Given the description of an element on the screen output the (x, y) to click on. 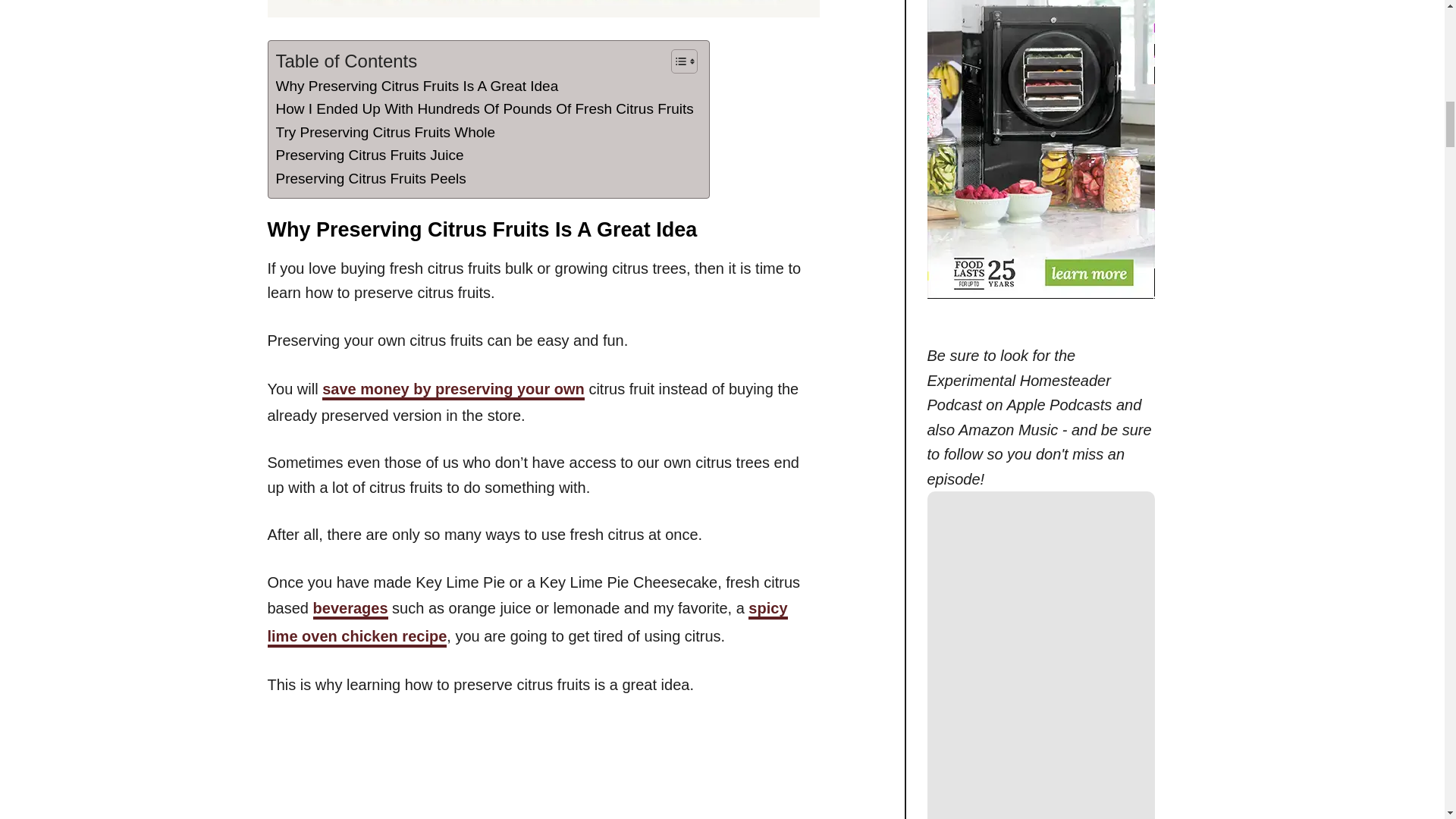
Try Preserving Citrus Fruits Whole (386, 132)
Why Preserving Citrus Fruits Is A Great Idea (417, 86)
Preserving Citrus Fruits Juice (370, 155)
Preserving Citrus Fruits Peels (370, 178)
